Given the description of an element on the screen output the (x, y) to click on. 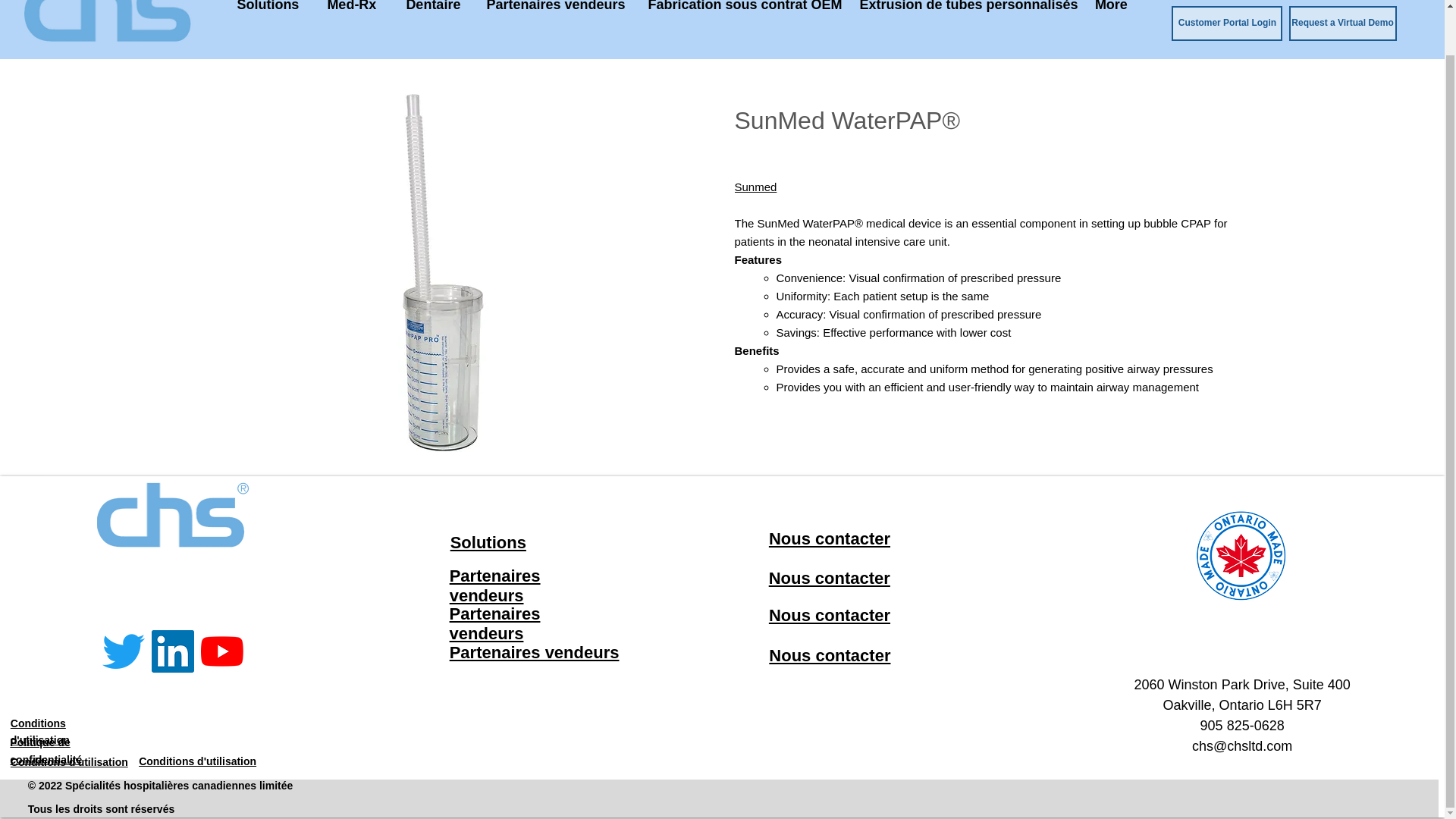
Fabrication sous contrat OEM (741, 13)
Med-Rx (351, 13)
Dentaire (432, 13)
Solutions (267, 13)
Partenaires vendeurs (555, 13)
